Given the description of an element on the screen output the (x, y) to click on. 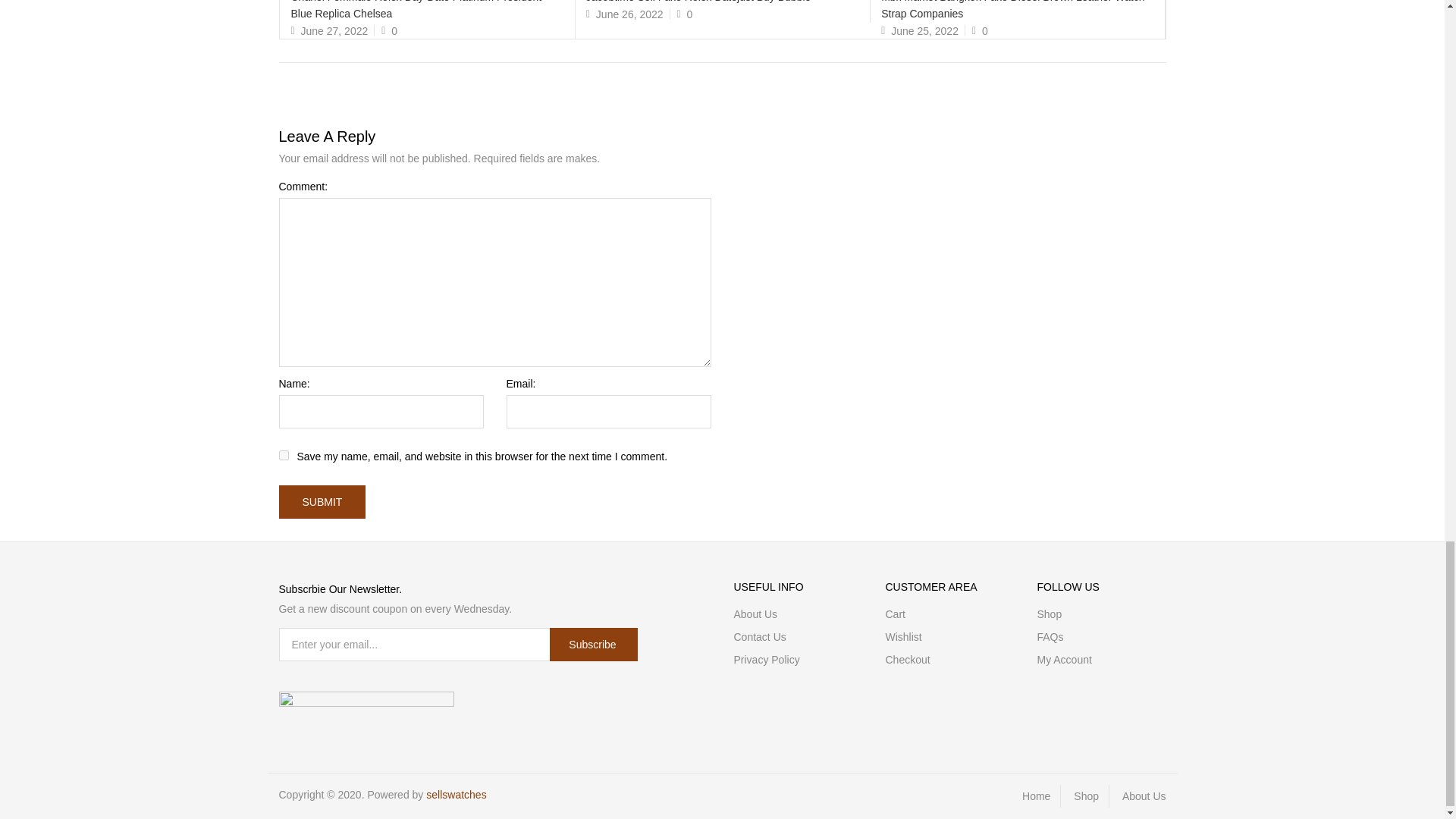
subscribe (593, 644)
submit (322, 501)
payments (366, 700)
yes (283, 455)
